Given the description of an element on the screen output the (x, y) to click on. 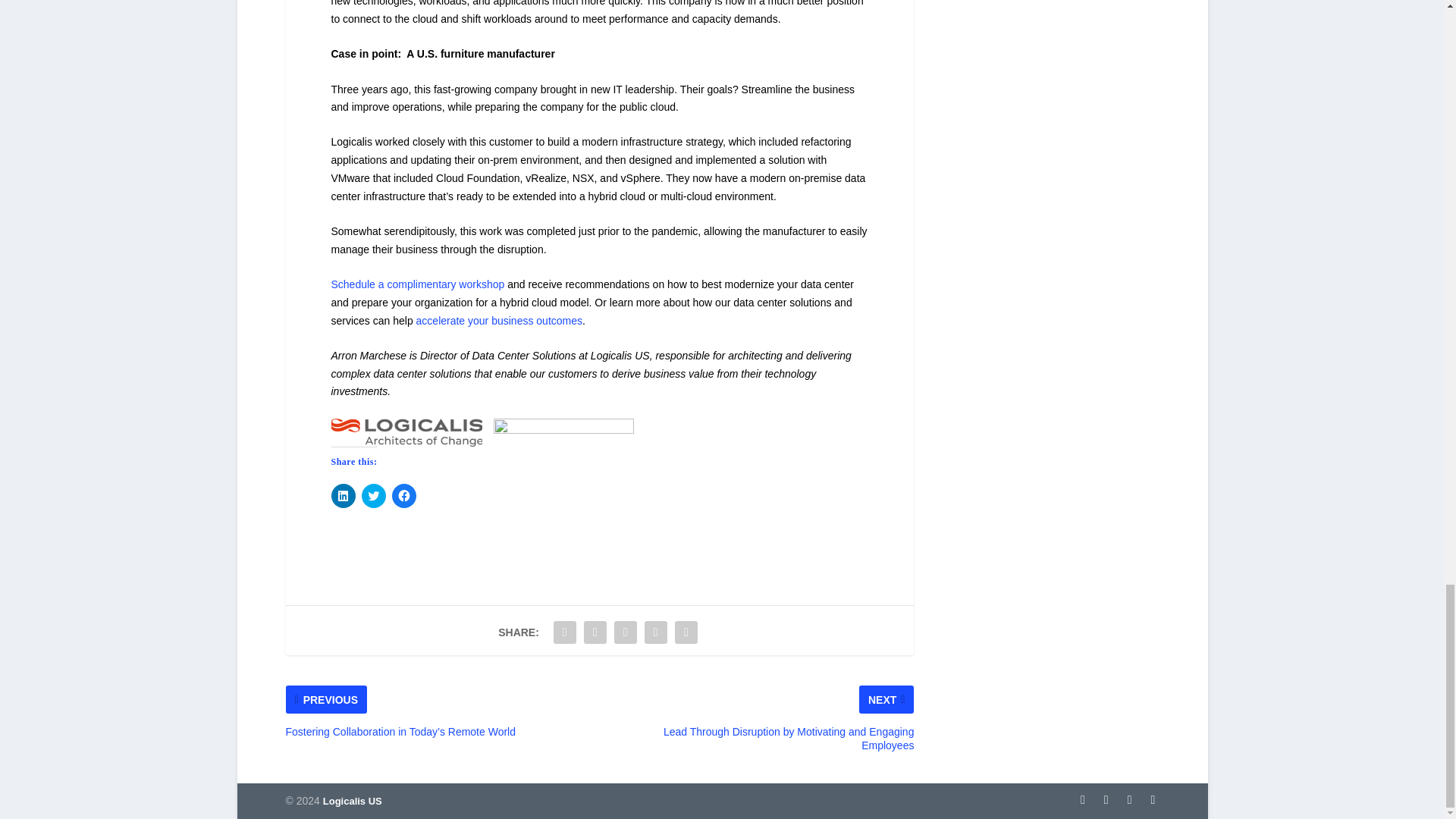
Click to share on LinkedIn (342, 495)
Click to share on Twitter (373, 495)
Click to share on Facebook (402, 495)
